Given the description of an element on the screen output the (x, y) to click on. 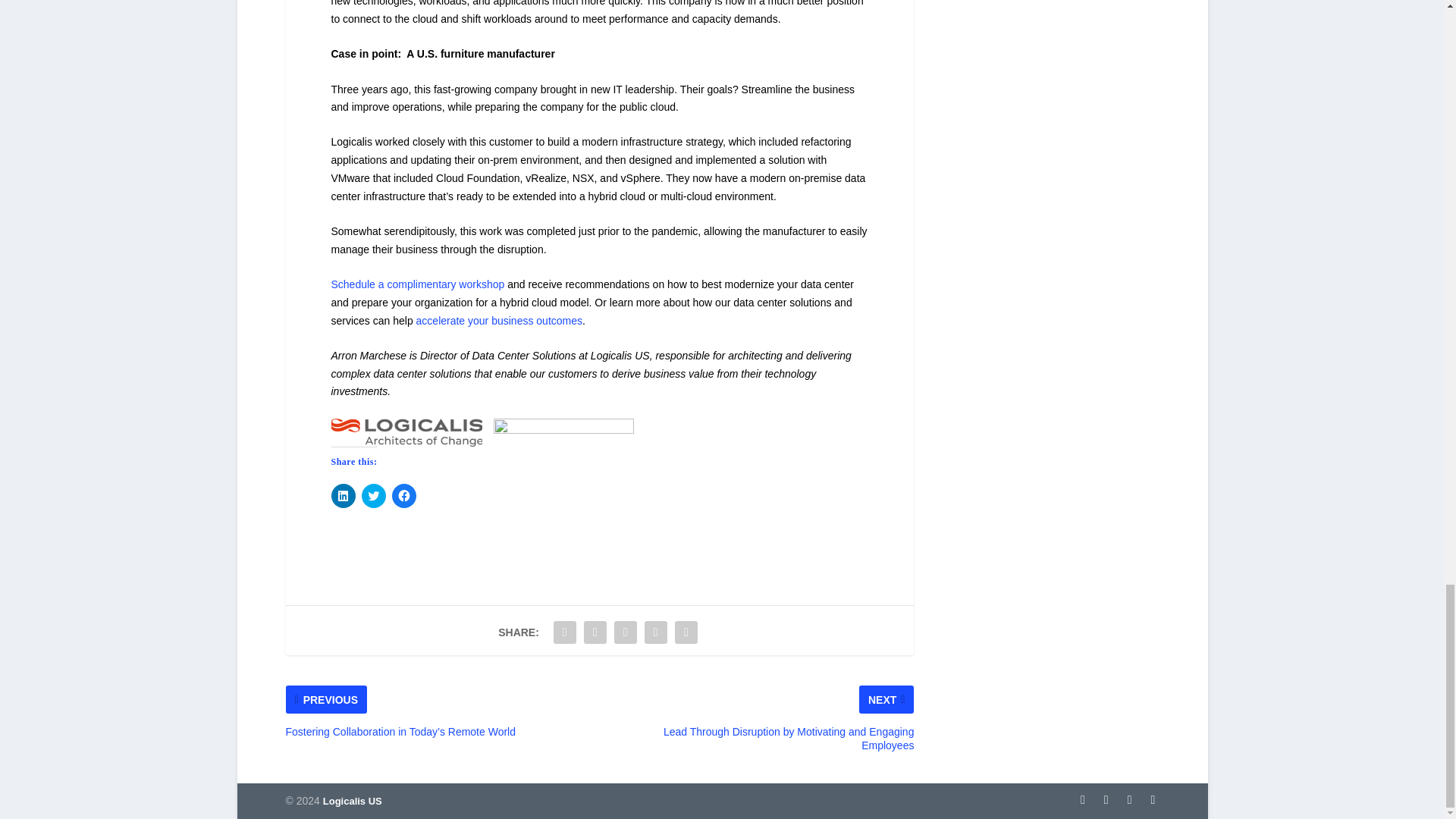
Click to share on LinkedIn (342, 495)
Click to share on Twitter (373, 495)
Click to share on Facebook (402, 495)
